Given the description of an element on the screen output the (x, y) to click on. 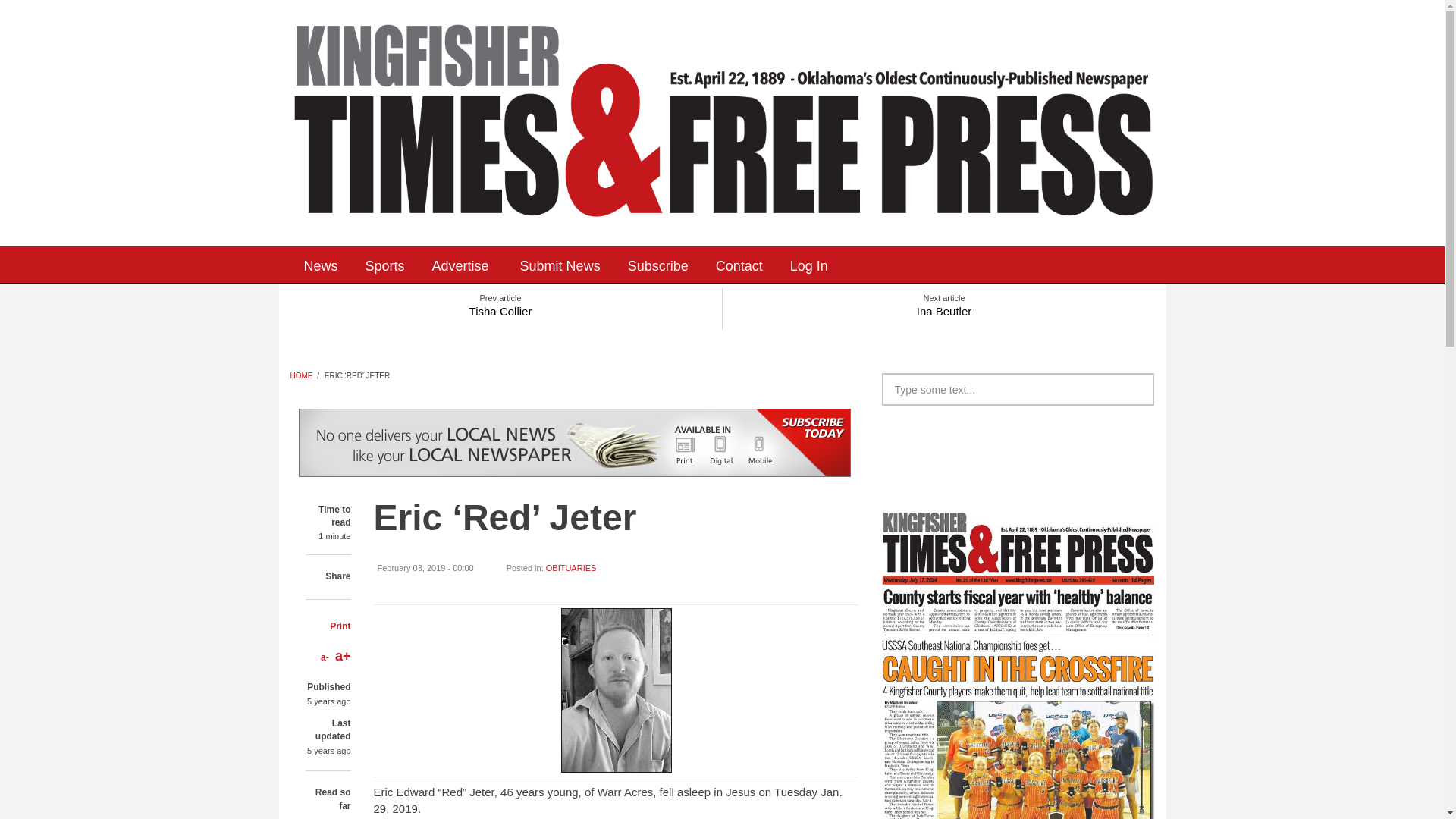
a- (324, 656)
Ina Beutler (943, 307)
Twitter (944, 264)
Subscribe (657, 264)
Ina Beutler (943, 307)
Print (340, 625)
Tisha Collier (499, 307)
Tisha Collier (499, 307)
Type some text... (1017, 389)
Submit News (560, 264)
News (319, 264)
Facebook (899, 264)
Kingfisher OK forecast (1123, 443)
Contact (738, 264)
OBITUARIES (571, 567)
